Given the description of an element on the screen output the (x, y) to click on. 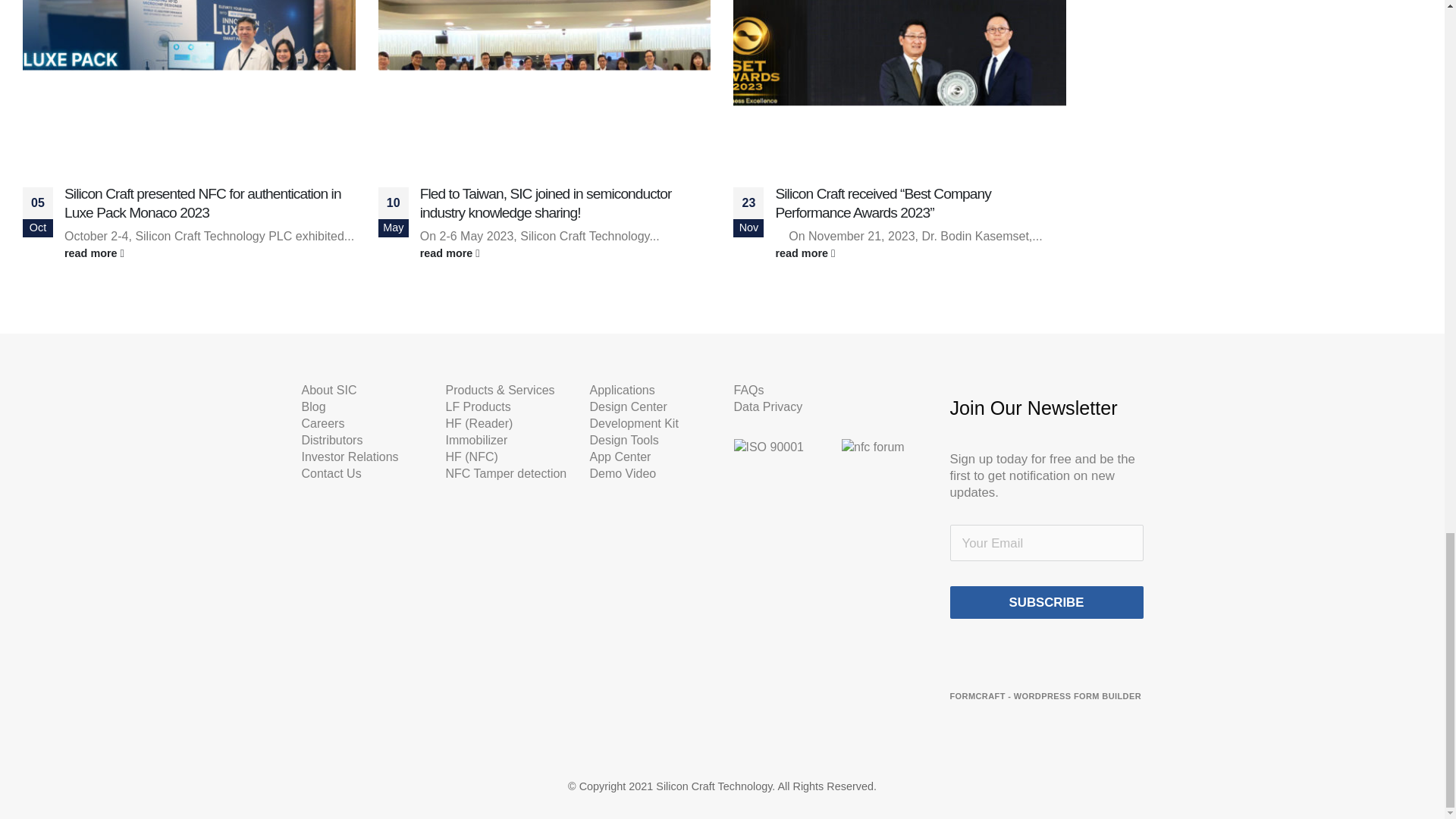
read more (919, 252)
read more (565, 252)
read more (209, 252)
